Given the description of an element on the screen output the (x, y) to click on. 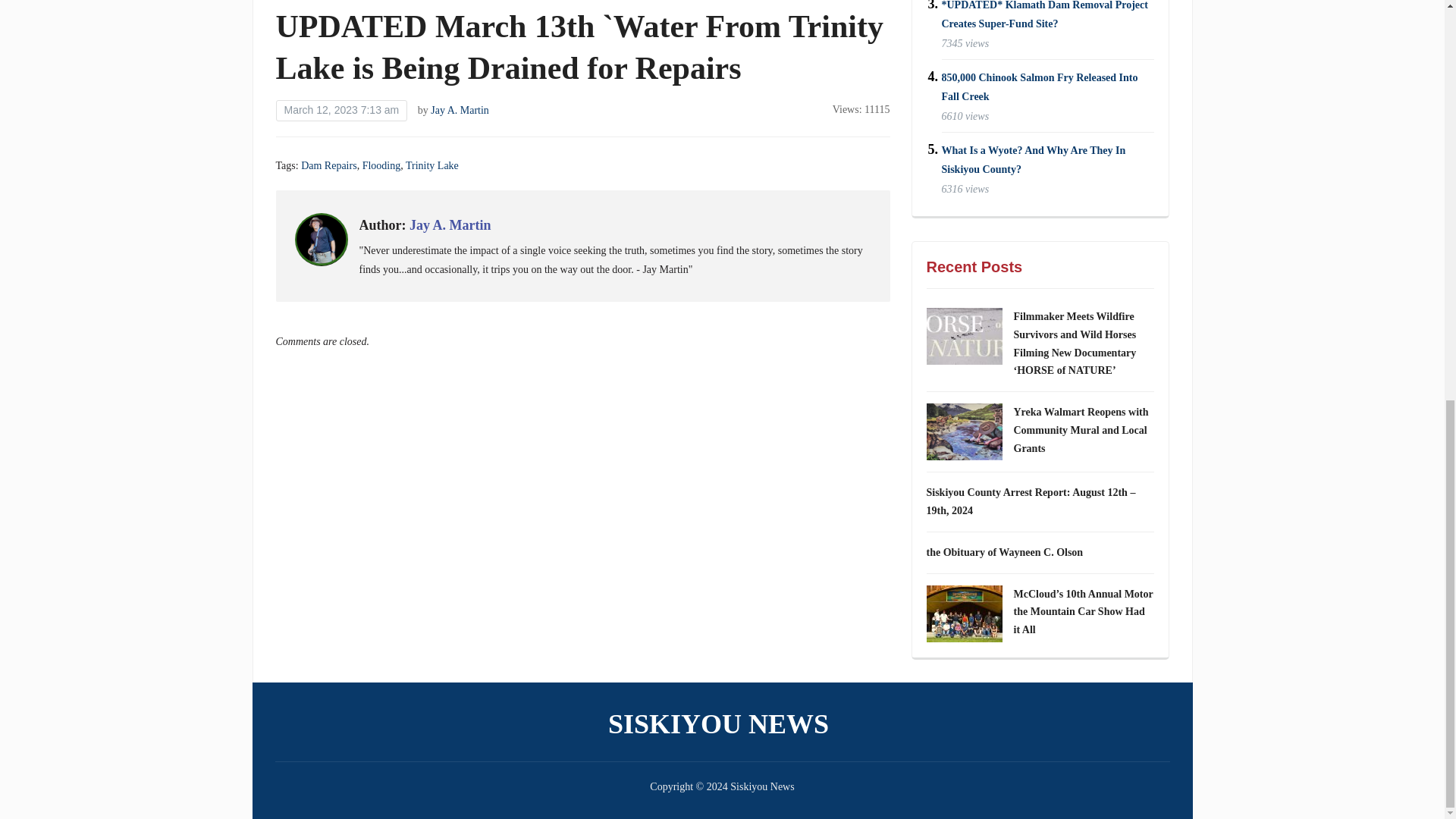
Jay A. Martin (459, 110)
SISKIYOU (510, 0)
